Given the description of an element on the screen output the (x, y) to click on. 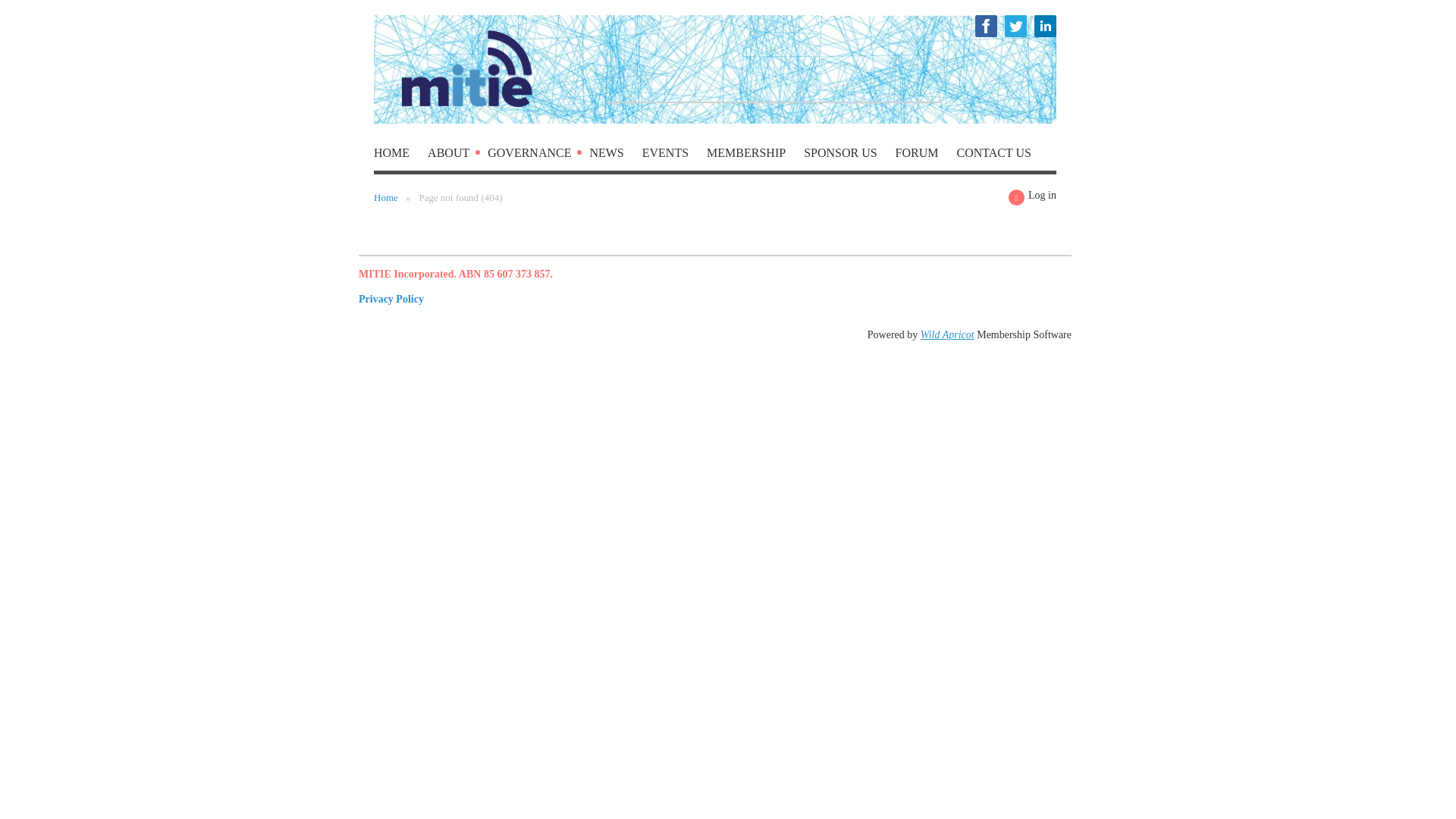
Contact Us (993, 156)
Facebook (986, 25)
Privacy Policy (390, 298)
Log in (1033, 197)
SPONSOR US (849, 156)
Home (401, 156)
GOVERNANCE (538, 156)
NEWS (615, 156)
Home (385, 197)
FORUM (925, 156)
Events (674, 156)
MEMBERSHIP (754, 156)
ABOUT (457, 156)
Governance (538, 156)
EVENTS (674, 156)
